Given the description of an element on the screen output the (x, y) to click on. 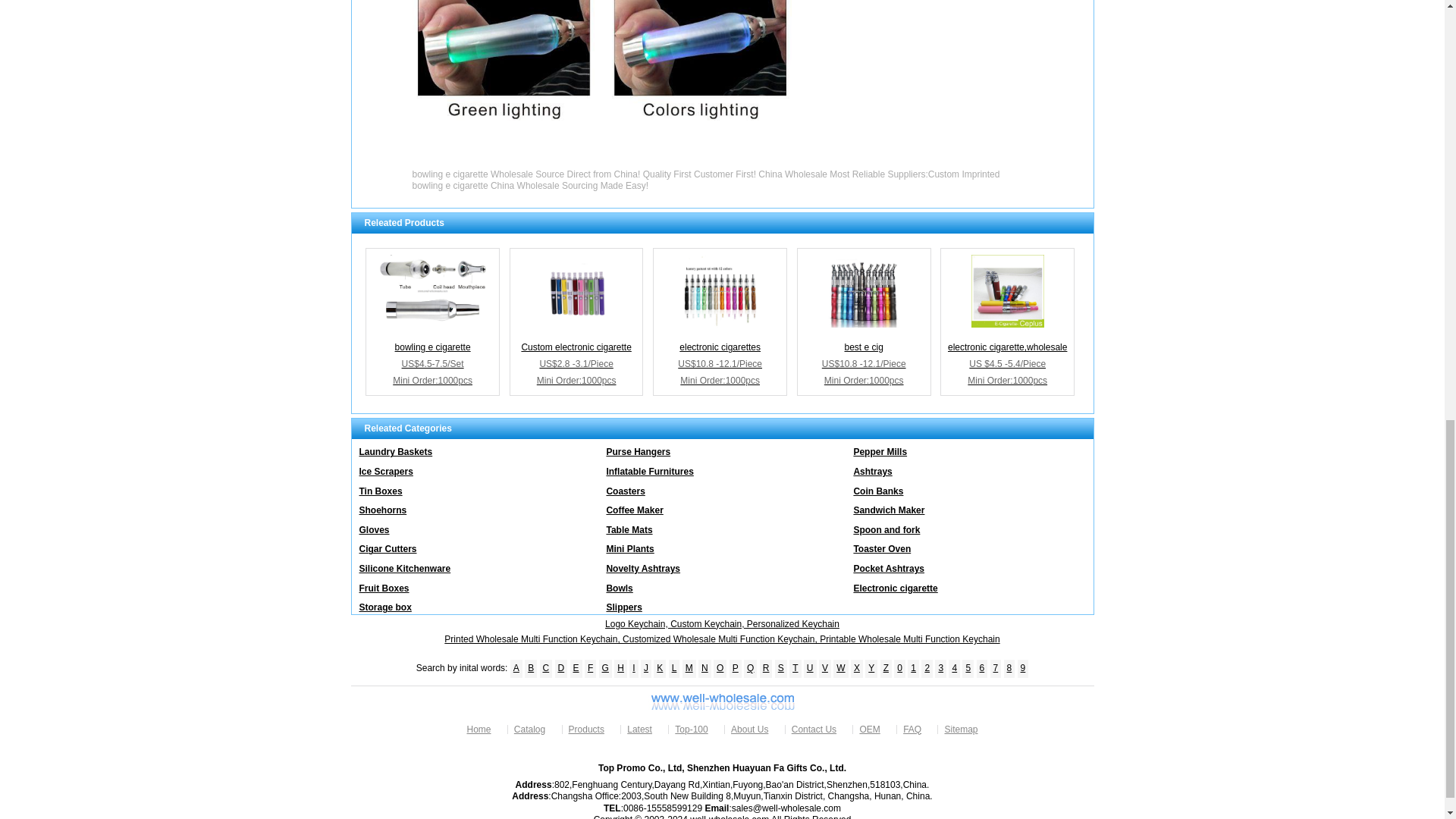
Laundry Baskets (475, 448)
Pepper Mills (969, 448)
Logo Keychain, Custom Keychain, Personalized Keychain (722, 624)
electronic cigarette,wholesale (1007, 290)
best e cig (863, 321)
Purse Hangers (721, 448)
Inflatable Furnitures (721, 468)
electronic cigarettes (720, 290)
bowling e cigarette (432, 321)
bowling e cigarette (432, 290)
electronic cigarettes (719, 321)
Custom electronic cigarette (576, 290)
electronic cigarette,wholesale (1007, 321)
Custom electronic cigarette (576, 321)
